Given the description of an element on the screen output the (x, y) to click on. 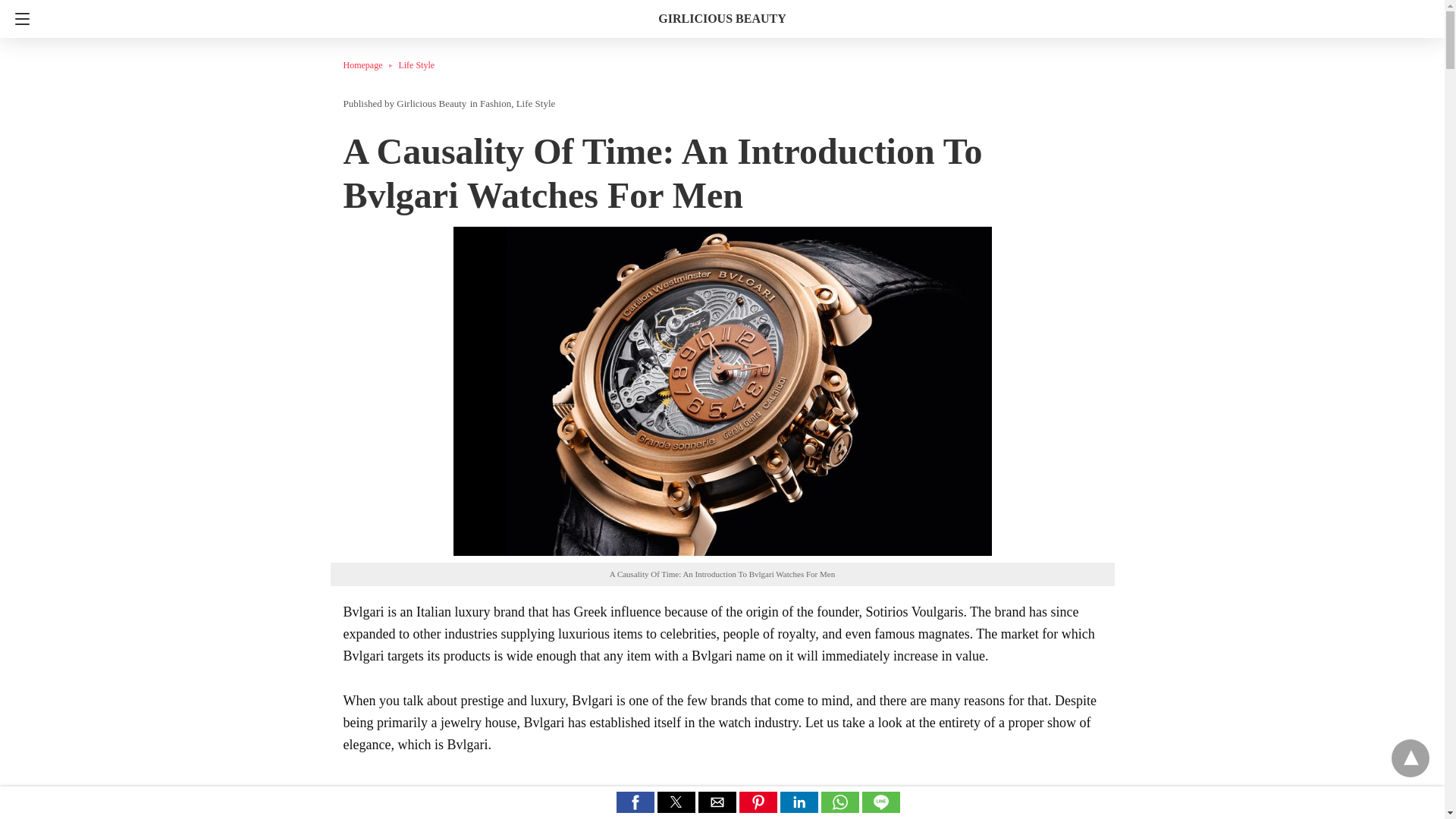
Homepage (369, 64)
Homepage (369, 64)
Fashion (495, 102)
Life Style (415, 64)
Life Style (536, 102)
GIRLICIOUS BEAUTY (722, 18)
Life Style (415, 64)
